Given the description of an element on the screen output the (x, y) to click on. 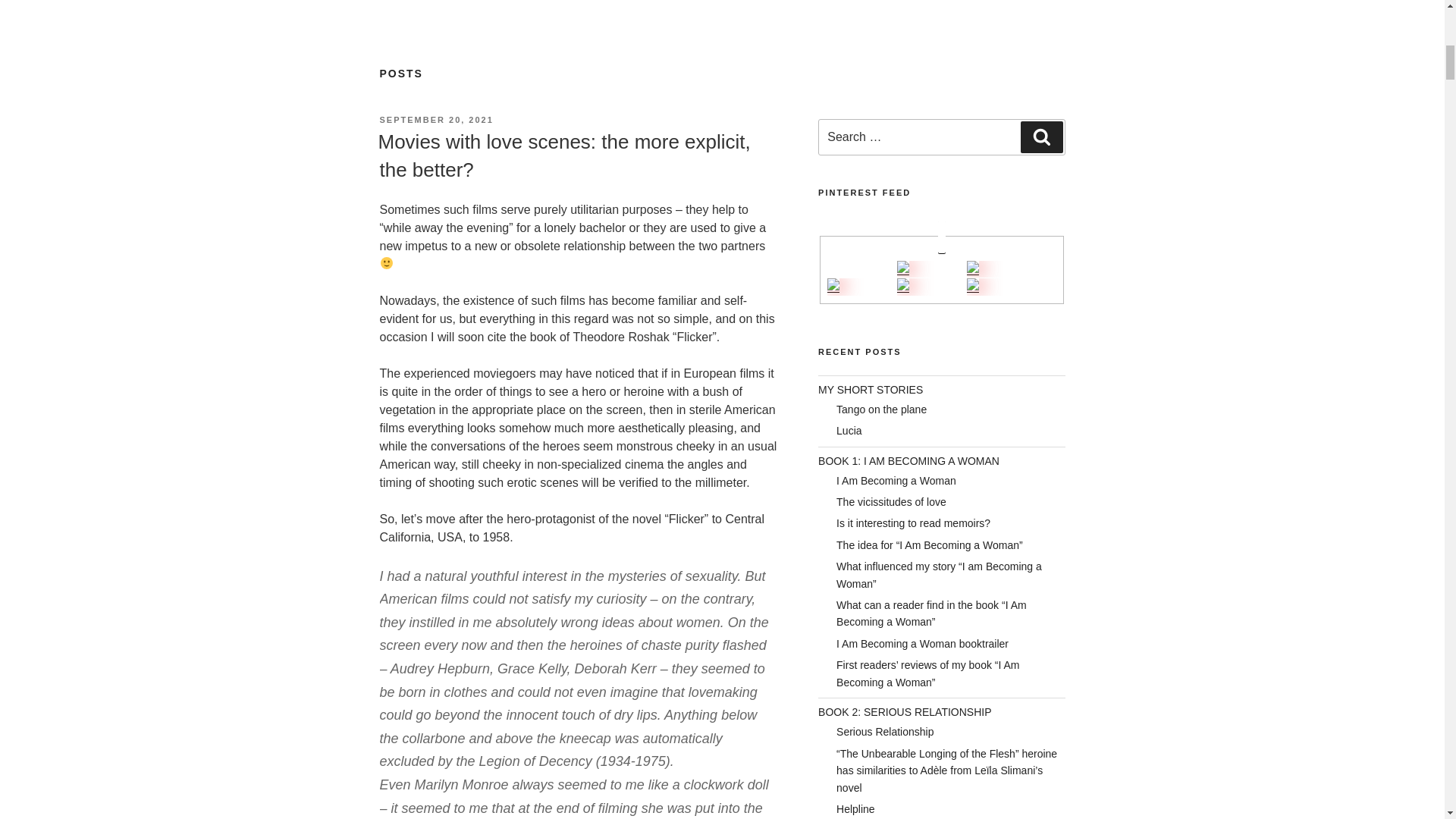
Movies with love scenes: the more explicit, the better? (563, 155)
Search (1041, 137)
SEPTEMBER 20, 2021 (435, 119)
MY SHORT STORIES (870, 389)
Tango on the plane (880, 409)
Lucia (848, 430)
BOOK 1: I AM BECOMING A WOMAN (908, 460)
I (902, 286)
Quote (972, 286)
The vicissitudes of love (890, 501)
Quote (833, 286)
I Am Becoming a Woman (895, 480)
Quote (902, 268)
Quote (972, 268)
